Given the description of an element on the screen output the (x, y) to click on. 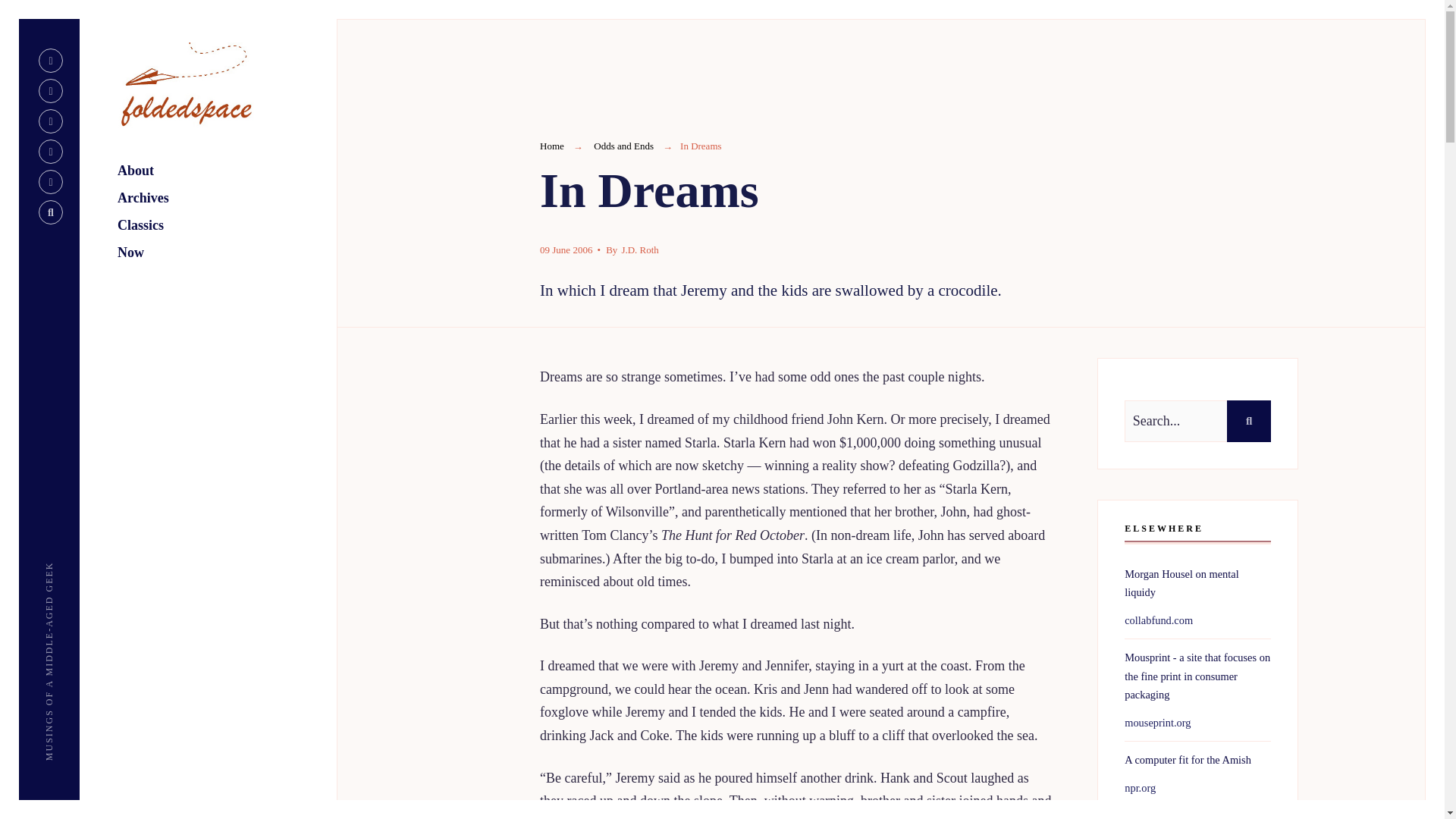
Home (552, 145)
Odds and Ends (623, 145)
J.D. Roth (639, 249)
Search... (1197, 421)
Archives (226, 198)
A computer fit for the Amish (1187, 759)
Posts by J.D. Roth (639, 249)
Classics (226, 226)
Rss Feed (50, 60)
Morgan Housel on mental liquidy (1181, 583)
Now (226, 253)
About (226, 171)
